Given the description of an element on the screen output the (x, y) to click on. 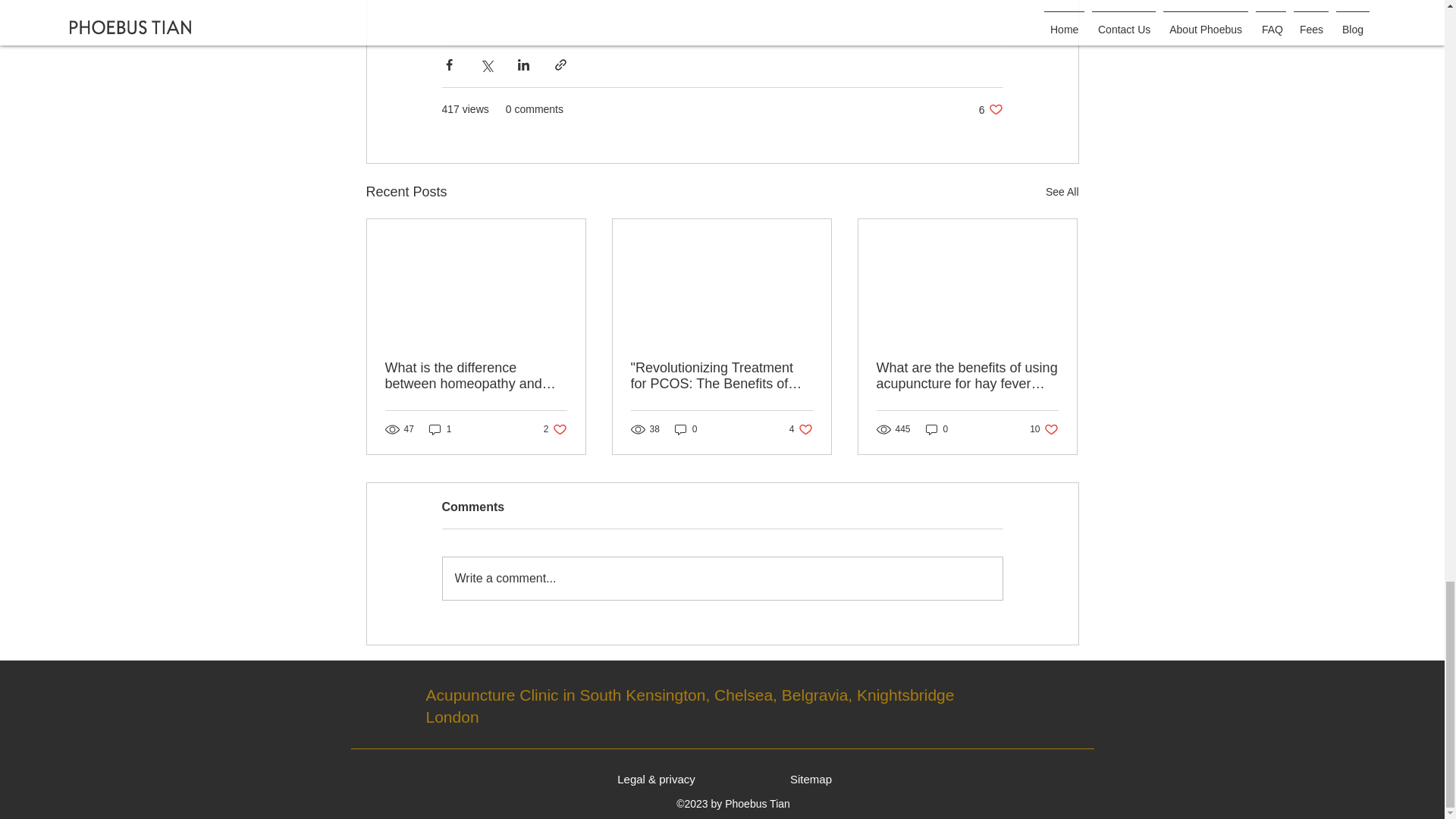
0 (555, 429)
Write a comment... (937, 429)
1 (722, 578)
0 (1043, 429)
See All (990, 109)
